Given the description of an element on the screen output the (x, y) to click on. 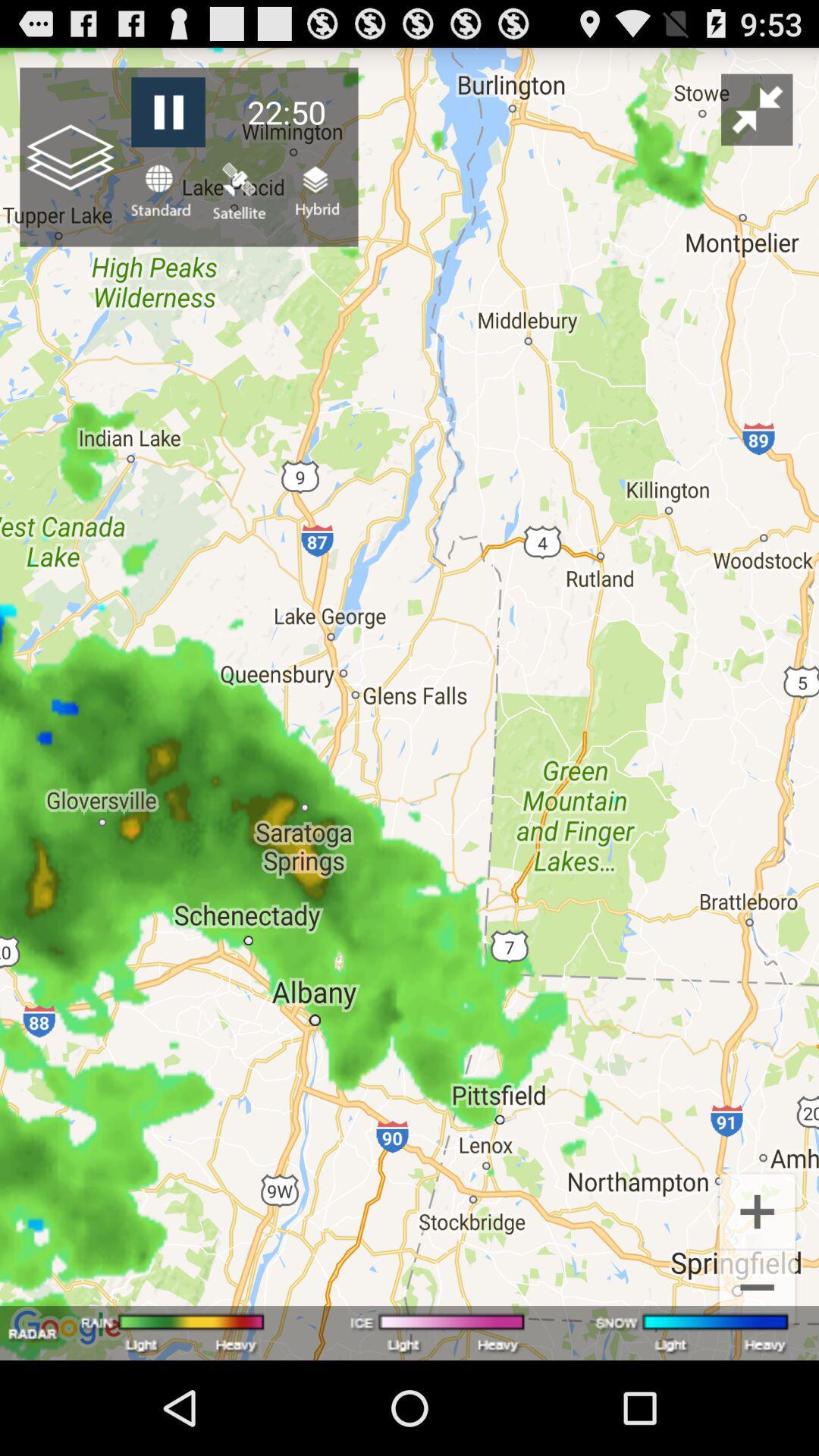
select the icon to the right of the 22:50 item (756, 109)
